Given the description of an element on the screen output the (x, y) to click on. 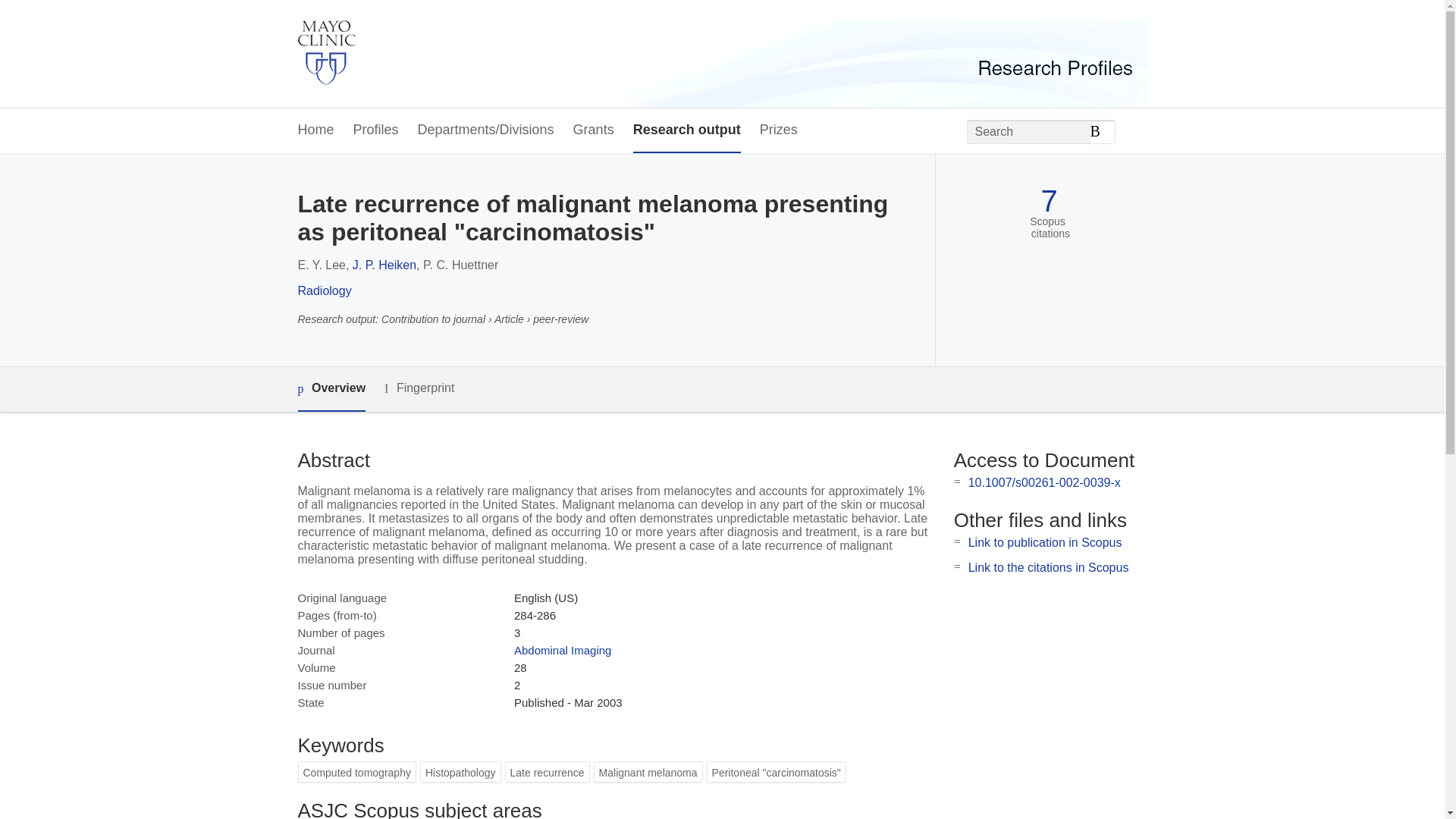
Link to the citations in Scopus (1048, 567)
Abdominal Imaging (562, 649)
Overview (331, 388)
Radiology (323, 290)
Profiles (375, 130)
J. P. Heiken (384, 264)
Research output (687, 130)
Link to publication in Scopus (1045, 542)
Fingerprint (419, 388)
